Given the description of an element on the screen output the (x, y) to click on. 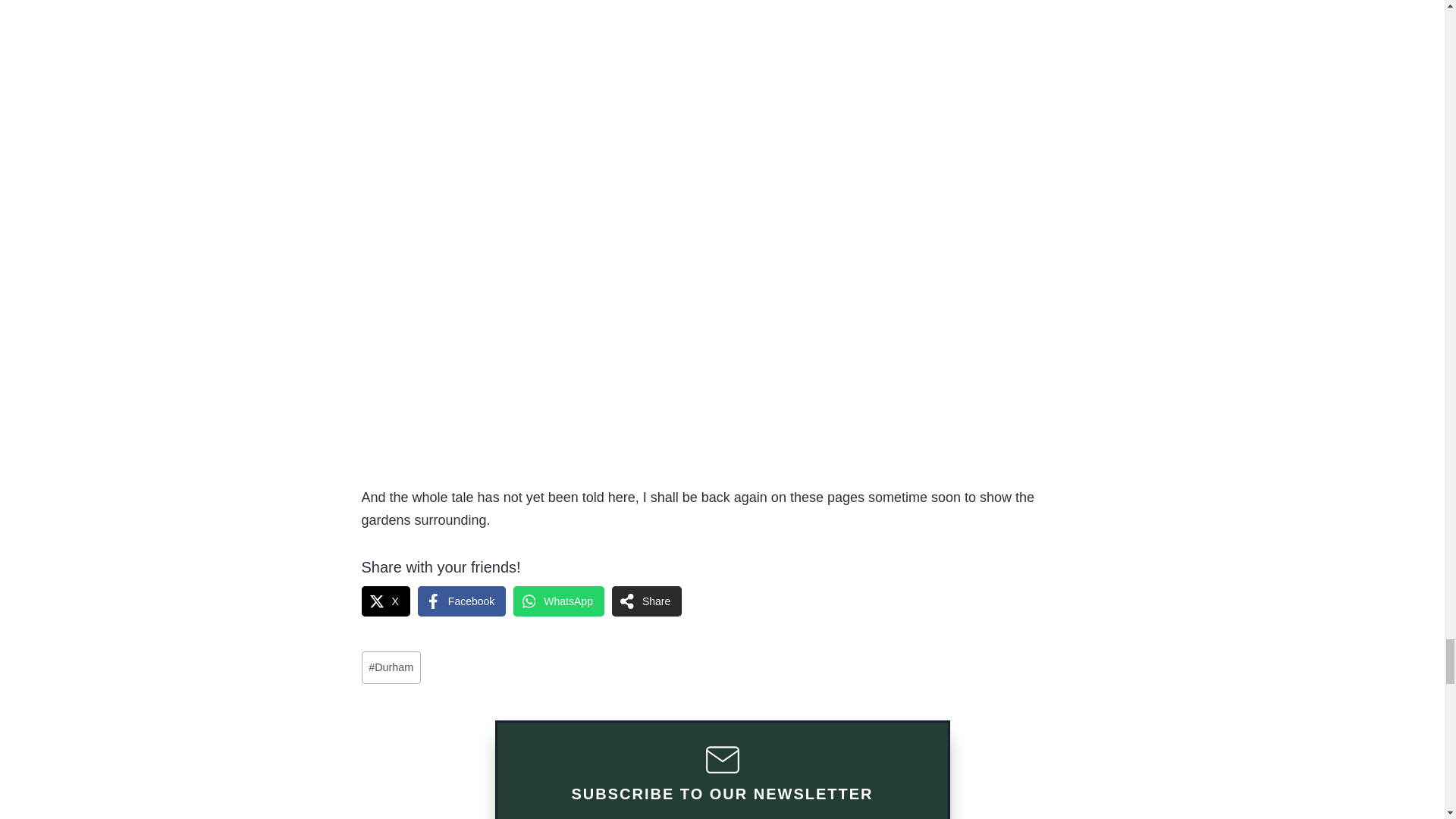
Durham (390, 666)
